Given the description of an element on the screen output the (x, y) to click on. 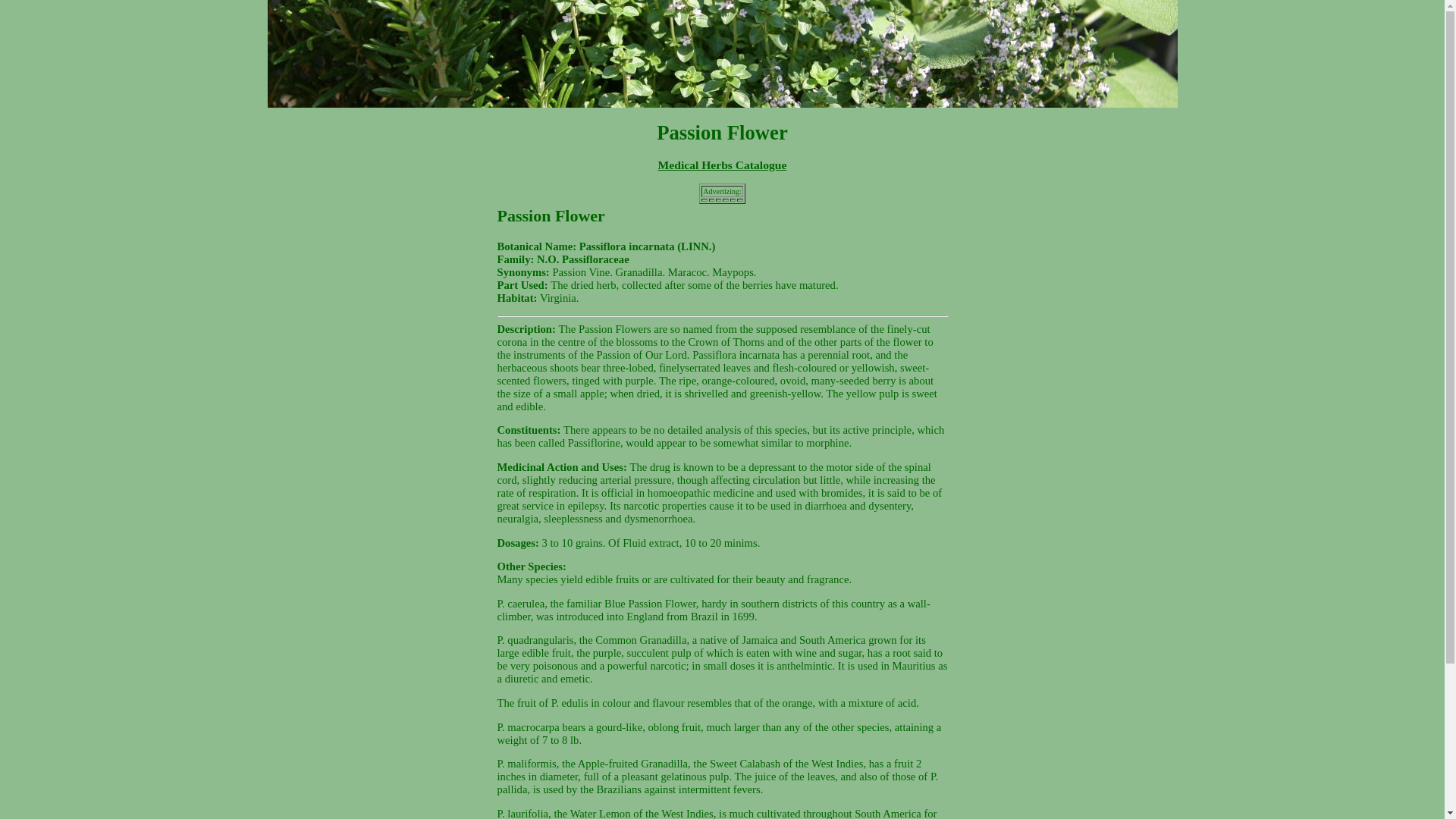
Medical Herbs Catalogue (722, 164)
